Given the description of an element on the screen output the (x, y) to click on. 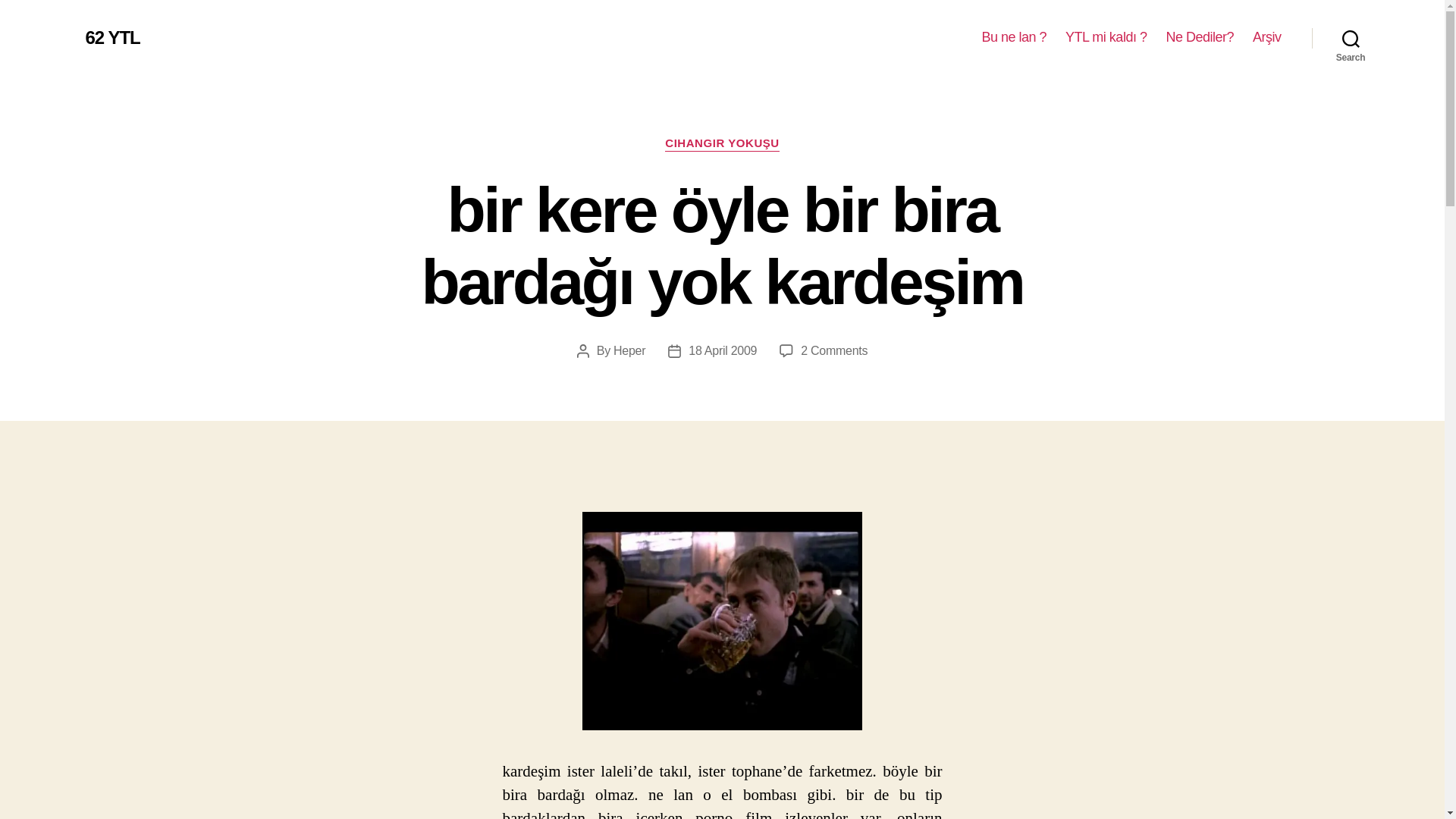
18 April 2009 (722, 350)
Bu ne lan ? (1013, 37)
gemide1999dvdripxvid-frame-101082 (721, 620)
Search (1350, 37)
62 YTL (111, 37)
Ne Dediler? (1199, 37)
Heper (628, 350)
